Given the description of an element on the screen output the (x, y) to click on. 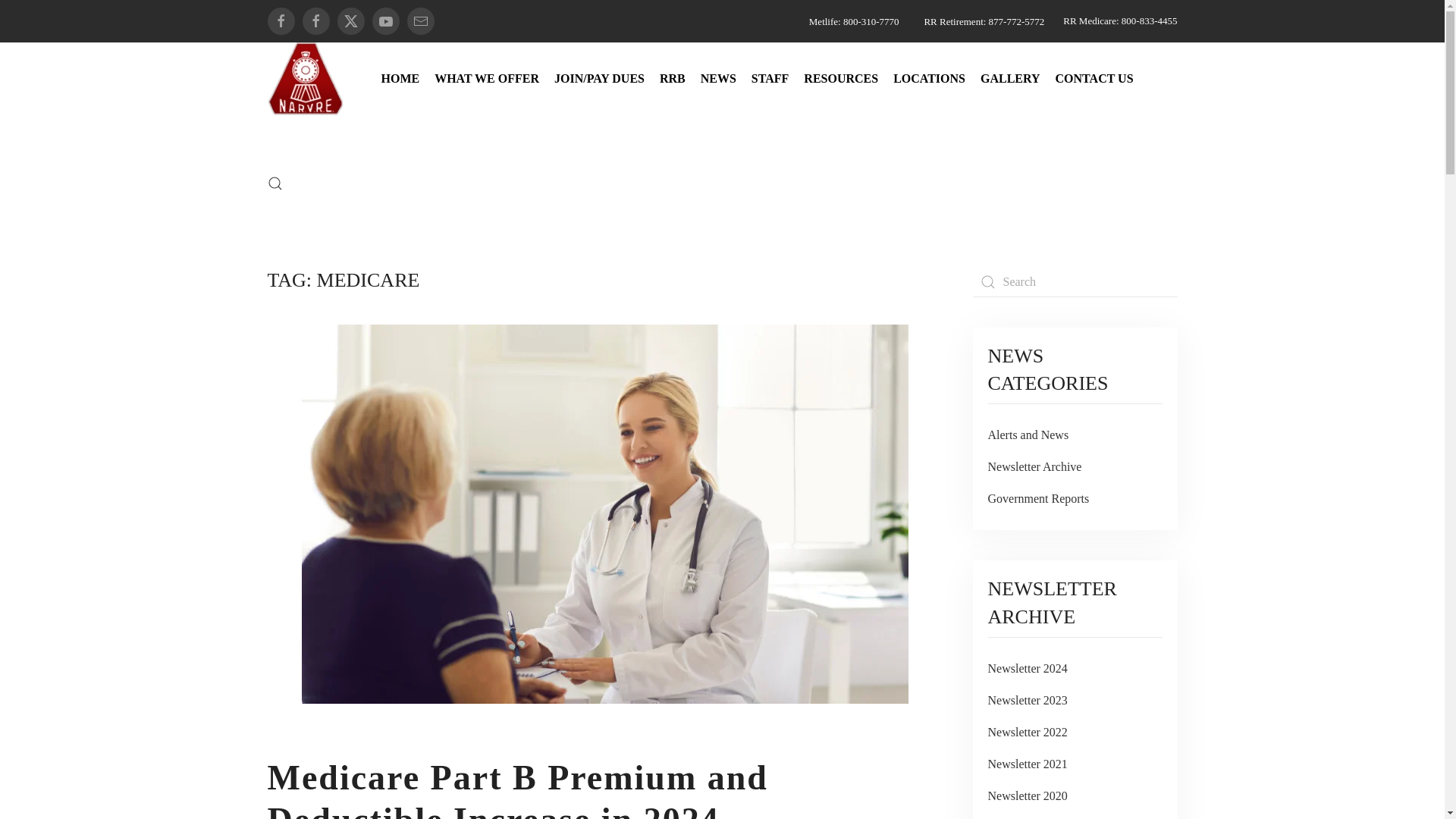
RR Retirement (952, 21)
Metlife (823, 21)
RESOURCES (840, 78)
WHAT WE OFFER (485, 78)
RR Medicare: (1090, 20)
Medicare (1090, 20)
